Given the description of an element on the screen output the (x, y) to click on. 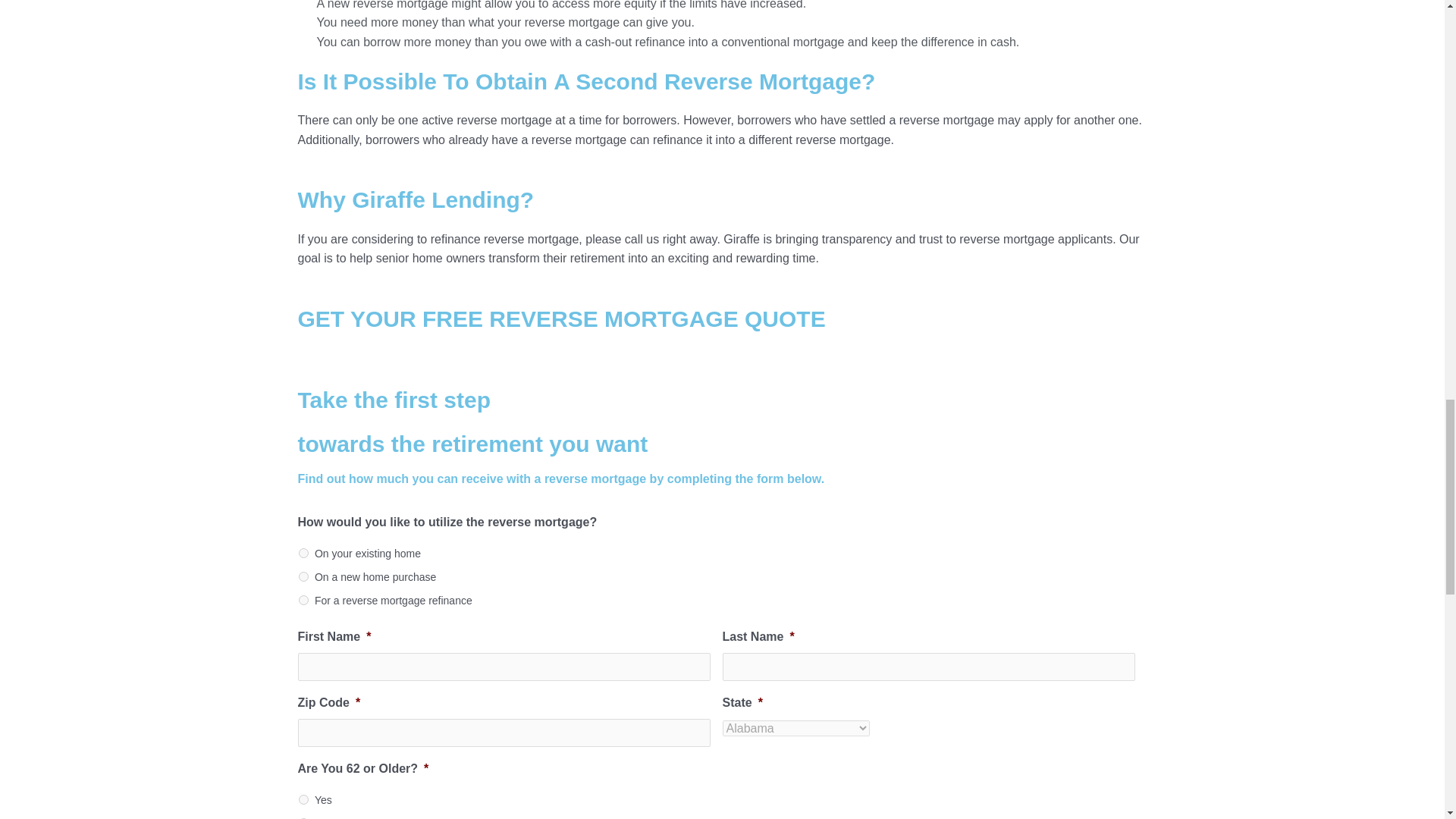
On a new home purchase (303, 576)
Yes (303, 799)
On your existing home (303, 552)
For a reverse mortgage refinance (303, 600)
